Given the description of an element on the screen output the (x, y) to click on. 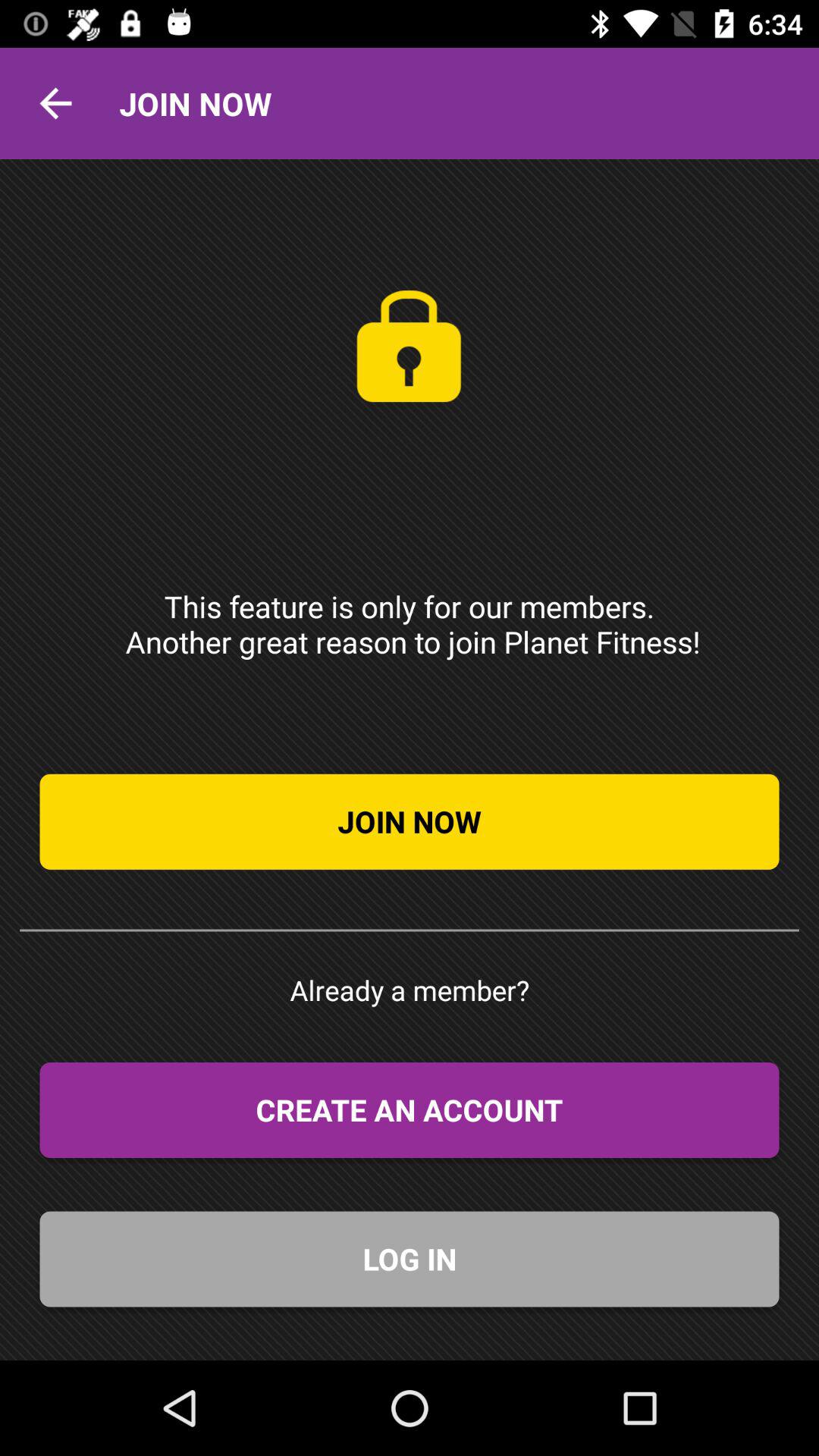
open item to the left of join now (55, 103)
